Given the description of an element on the screen output the (x, y) to click on. 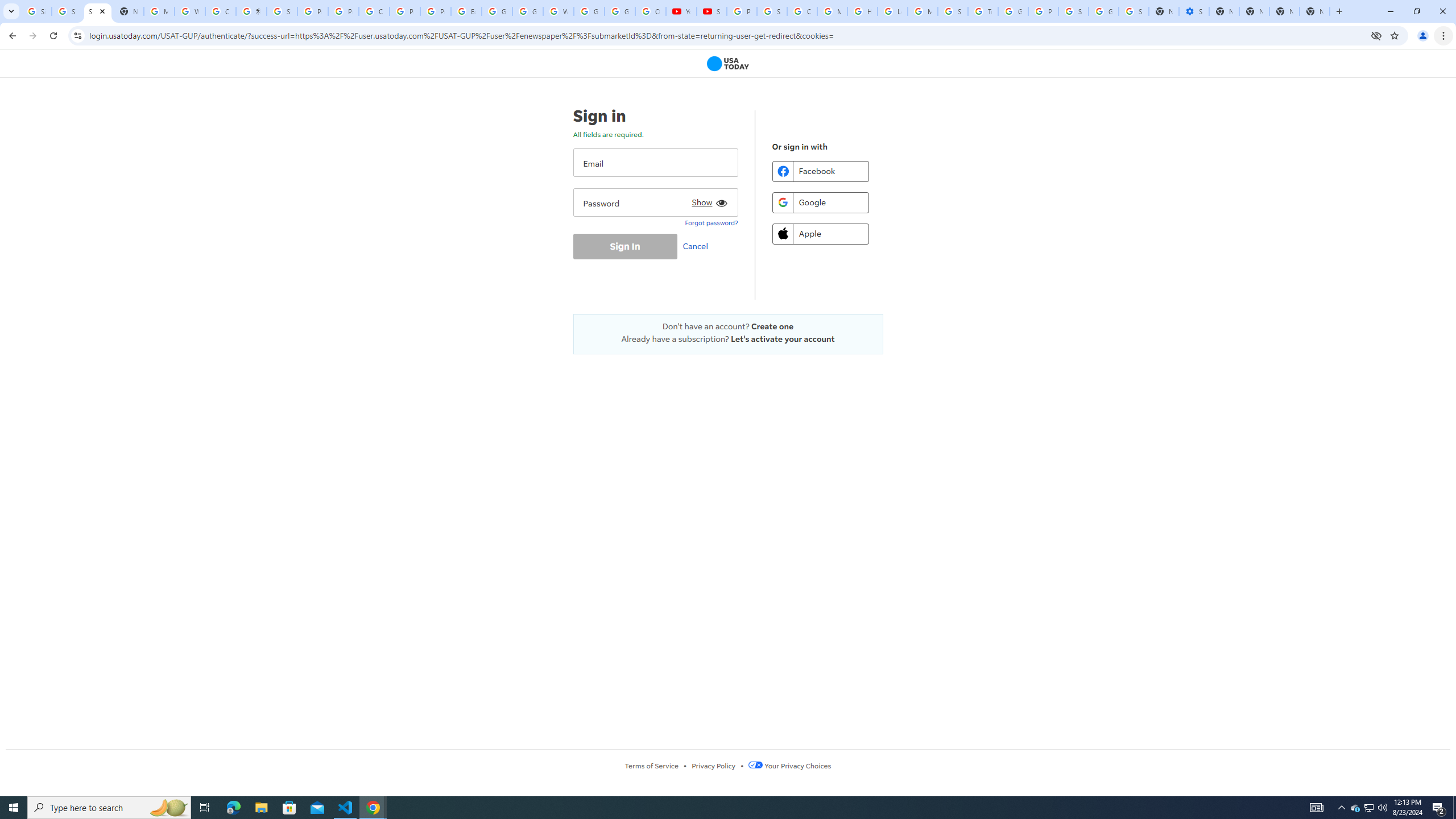
Edit and view right-to-left text - Google Docs Editors Help (465, 11)
Welcome to My Activity (558, 11)
Sign In (624, 246)
YouTube (681, 11)
Already have a subscription? Let's activate your account (727, 338)
